Given the description of an element on the screen output the (x, y) to click on. 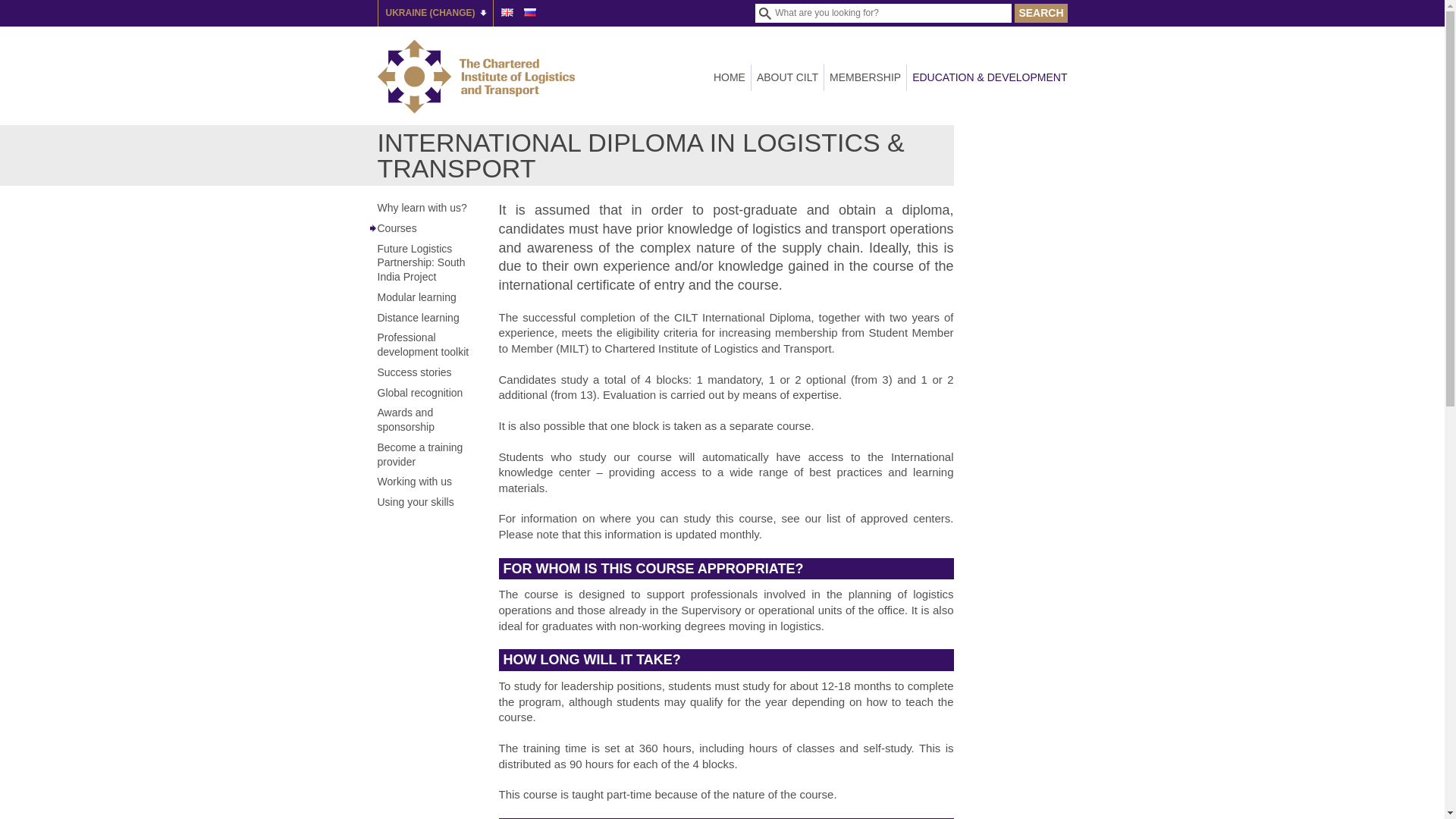
Search (1040, 13)
English (506, 12)
HOME (732, 77)
ABOUT CILT (787, 77)
Search (1040, 13)
